Given the description of an element on the screen output the (x, y) to click on. 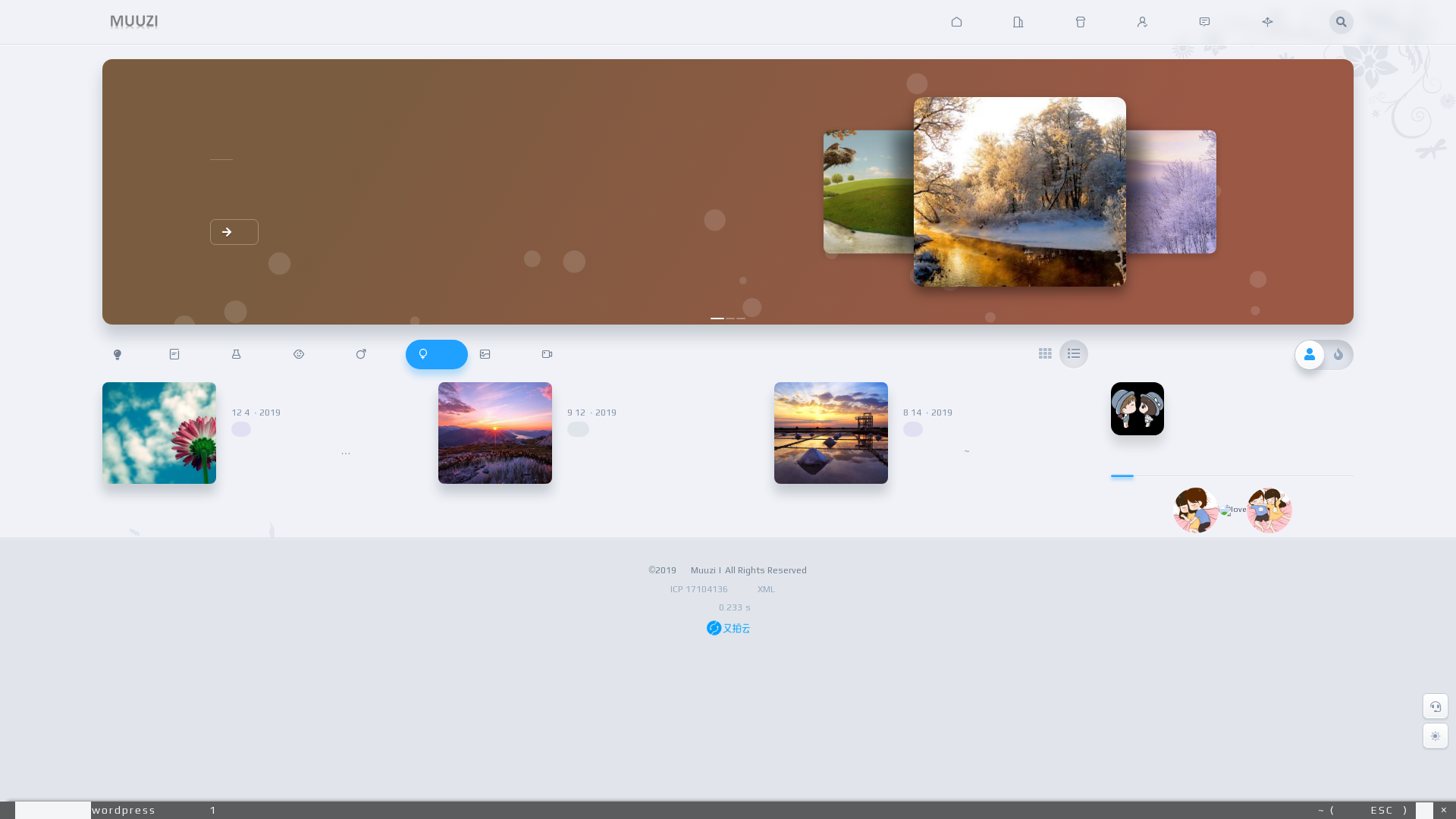
XML Element type: text (765, 588)
